Given the description of an element on the screen output the (x, y) to click on. 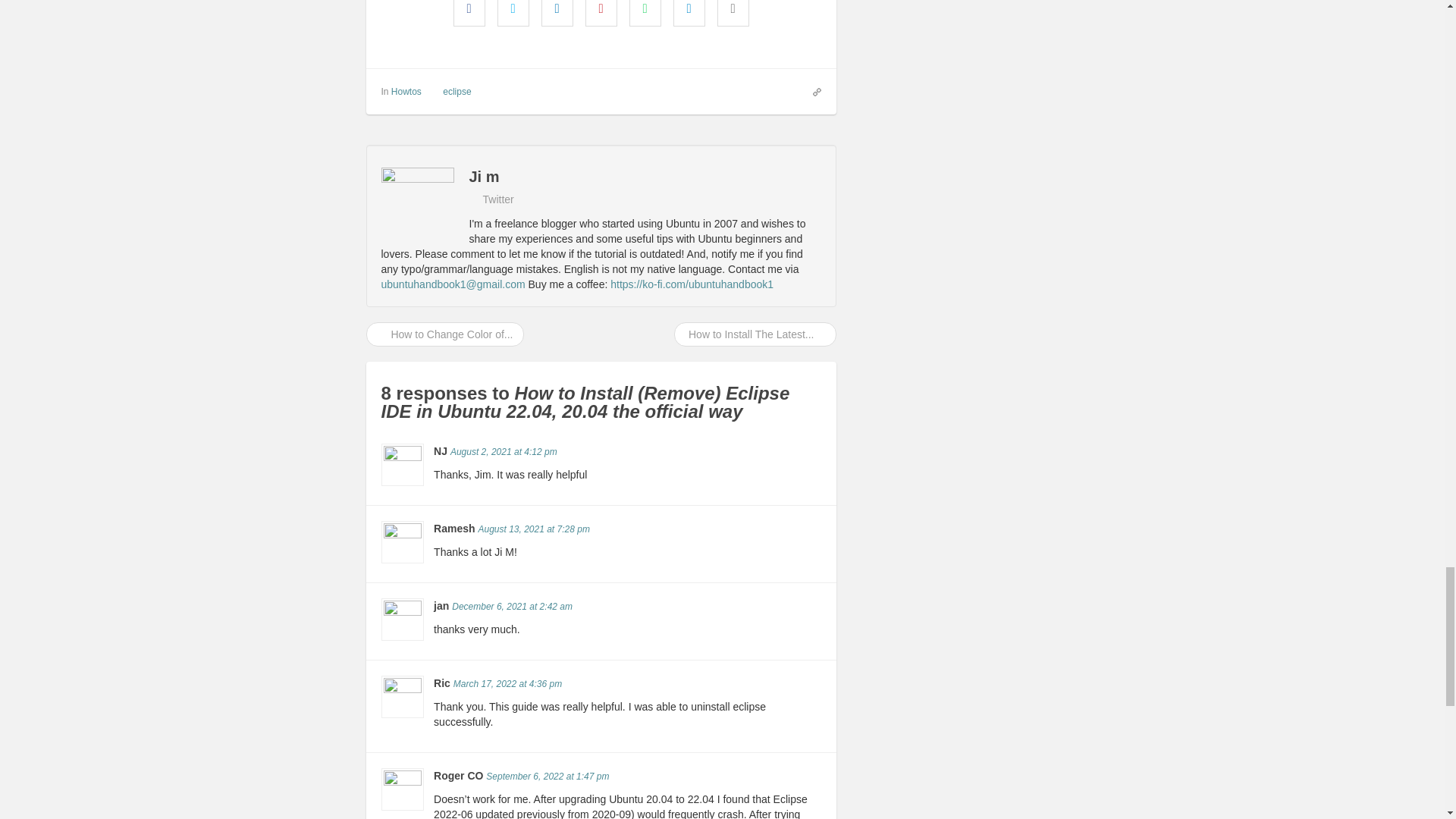
Twitter (490, 199)
permalink (811, 90)
Permalink (503, 451)
Permalink (547, 776)
eclipse (456, 91)
Ji m (600, 176)
Twitter (490, 199)
Permalink (533, 529)
